Given the description of an element on the screen output the (x, y) to click on. 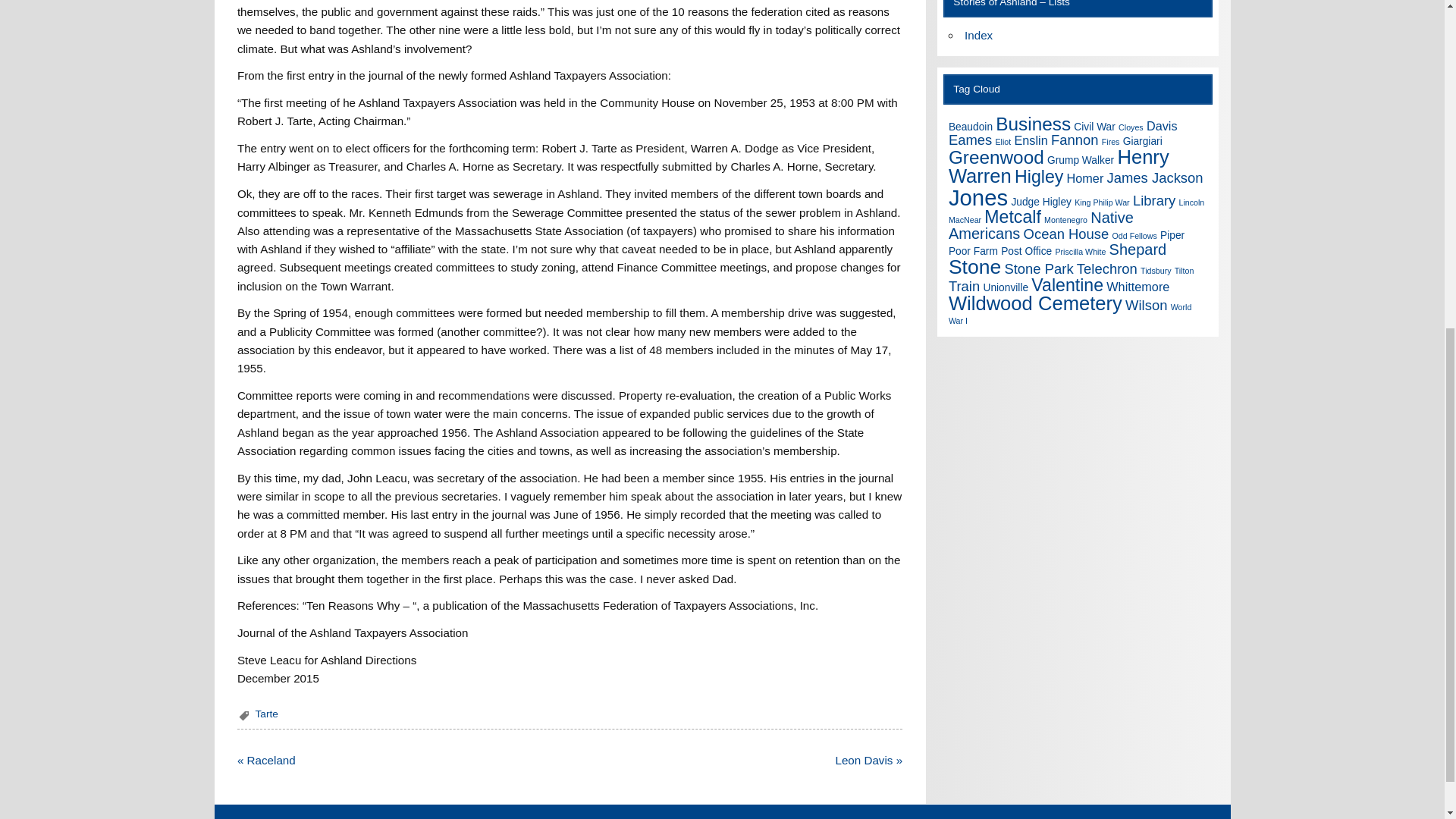
Civil War (1094, 126)
Beaudoin (970, 126)
Davis (1162, 125)
Index (977, 34)
Tarte (266, 713)
Business (1032, 123)
Cloyes (1130, 126)
Eames (970, 139)
